Given the description of an element on the screen output the (x, y) to click on. 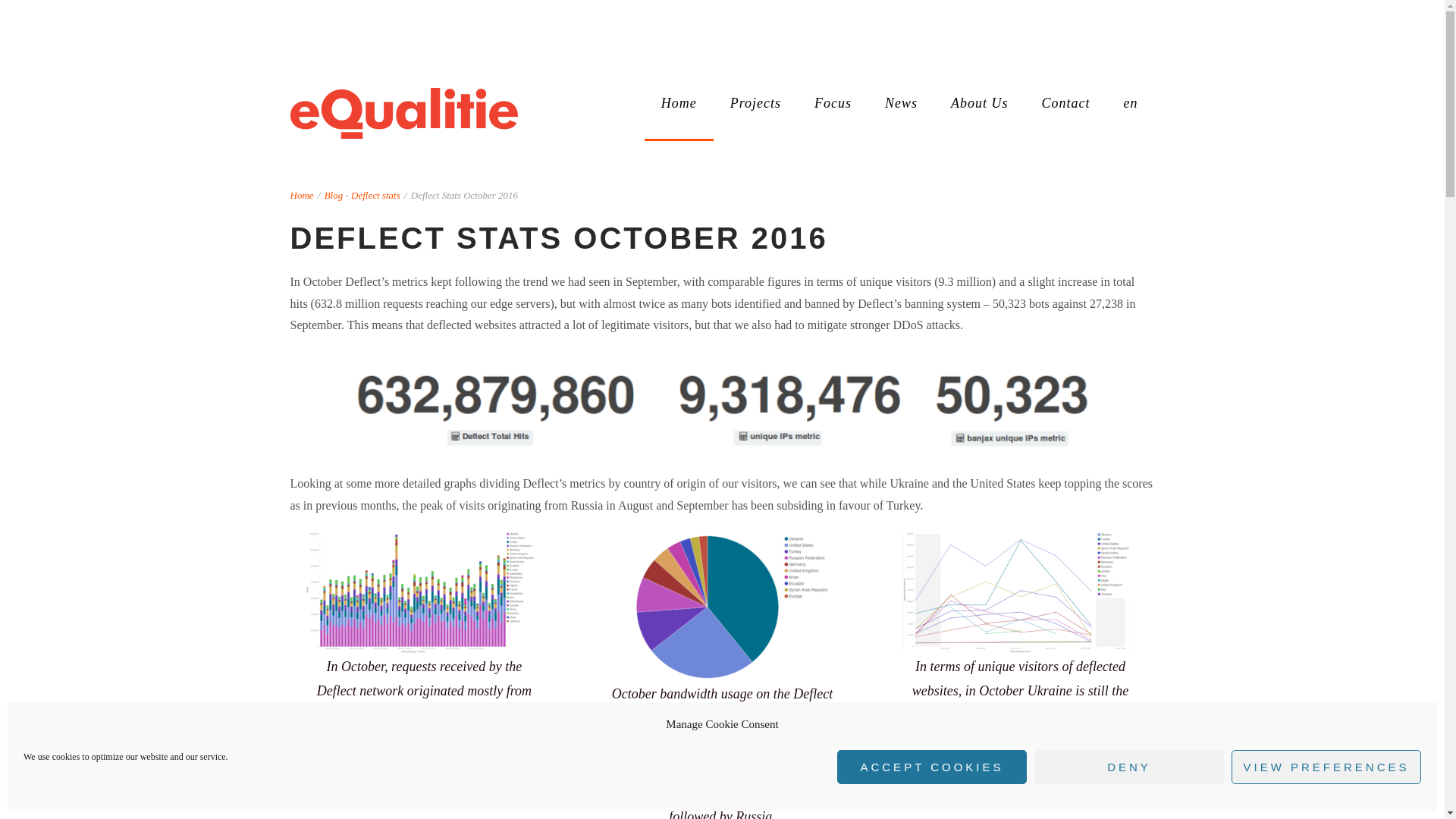
DENY (1128, 766)
Projects (755, 102)
About Us (979, 102)
ACCEPT COOKIES (931, 766)
Focus (832, 102)
Home (301, 194)
About Us (979, 102)
Focus (832, 102)
eQualitie (402, 112)
Home (679, 102)
